Given the description of an element on the screen output the (x, y) to click on. 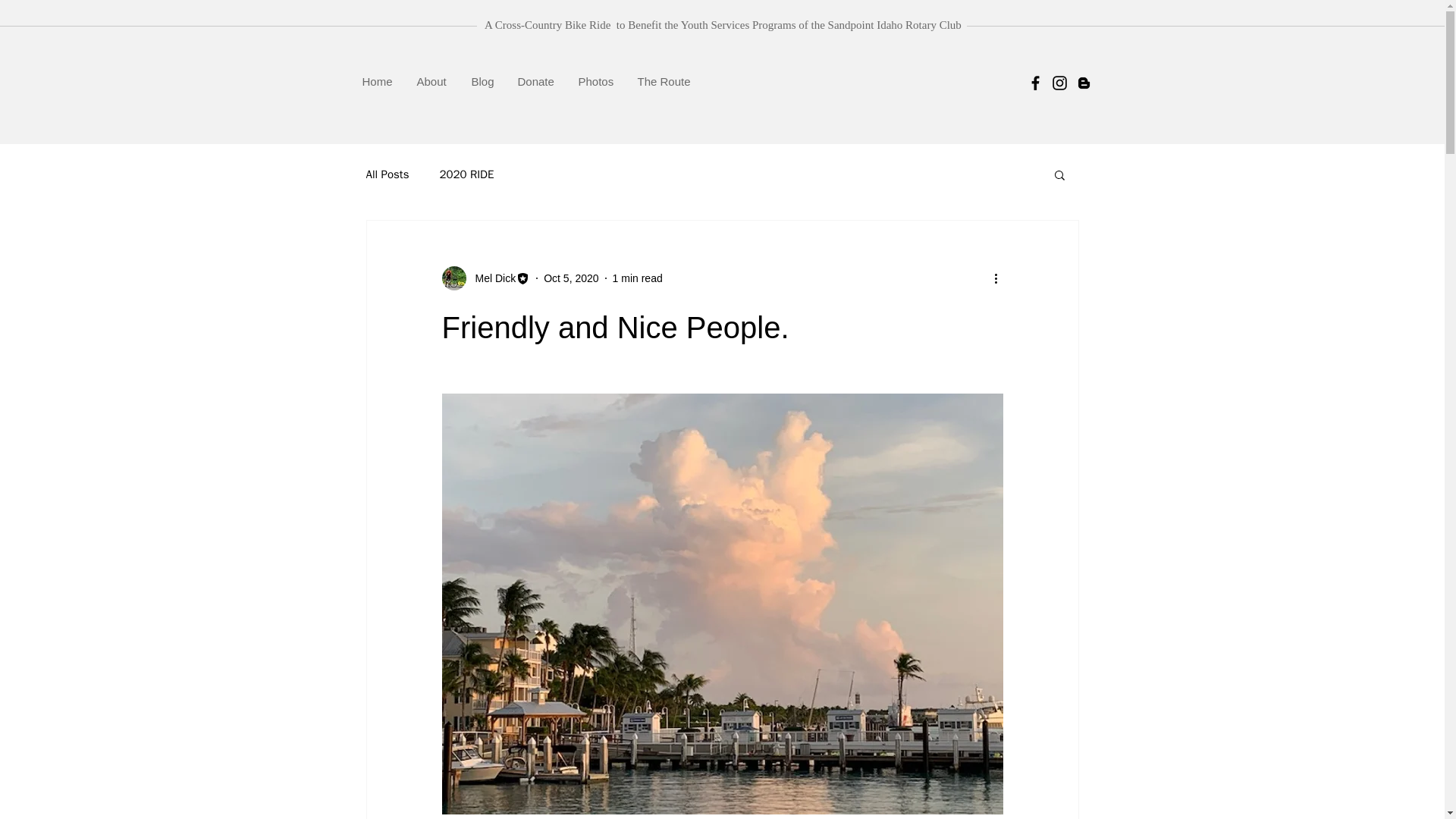
2020 RIDE (466, 173)
Donate (536, 81)
Home (377, 81)
1 min read (637, 277)
About (432, 81)
The Route (663, 81)
Blog (482, 81)
All Posts (387, 173)
Photos (596, 81)
Oct 5, 2020 (570, 277)
